Given the description of an element on the screen output the (x, y) to click on. 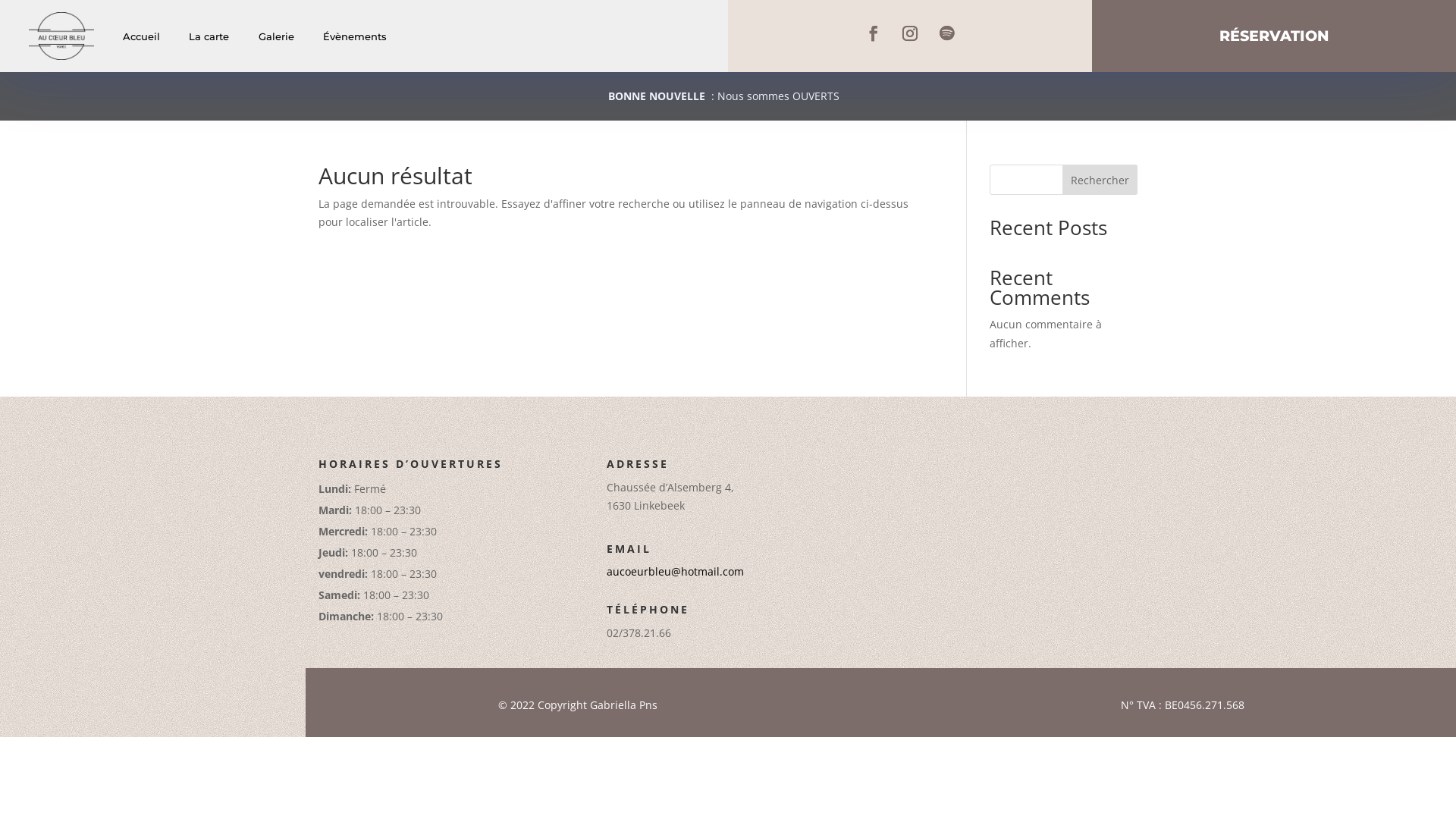
La carte Element type: text (208, 36)
Galerie Element type: text (276, 36)
Suivez sur Spotify Element type: hover (946, 33)
aucoeurbleu@hotmail.com Element type: text (674, 571)
Suivez sur Instagram Element type: hover (909, 33)
Suivez sur Facebook Element type: hover (873, 33)
Accueil Element type: text (141, 36)
Rechercher Element type: text (1099, 179)
